Given the description of an element on the screen output the (x, y) to click on. 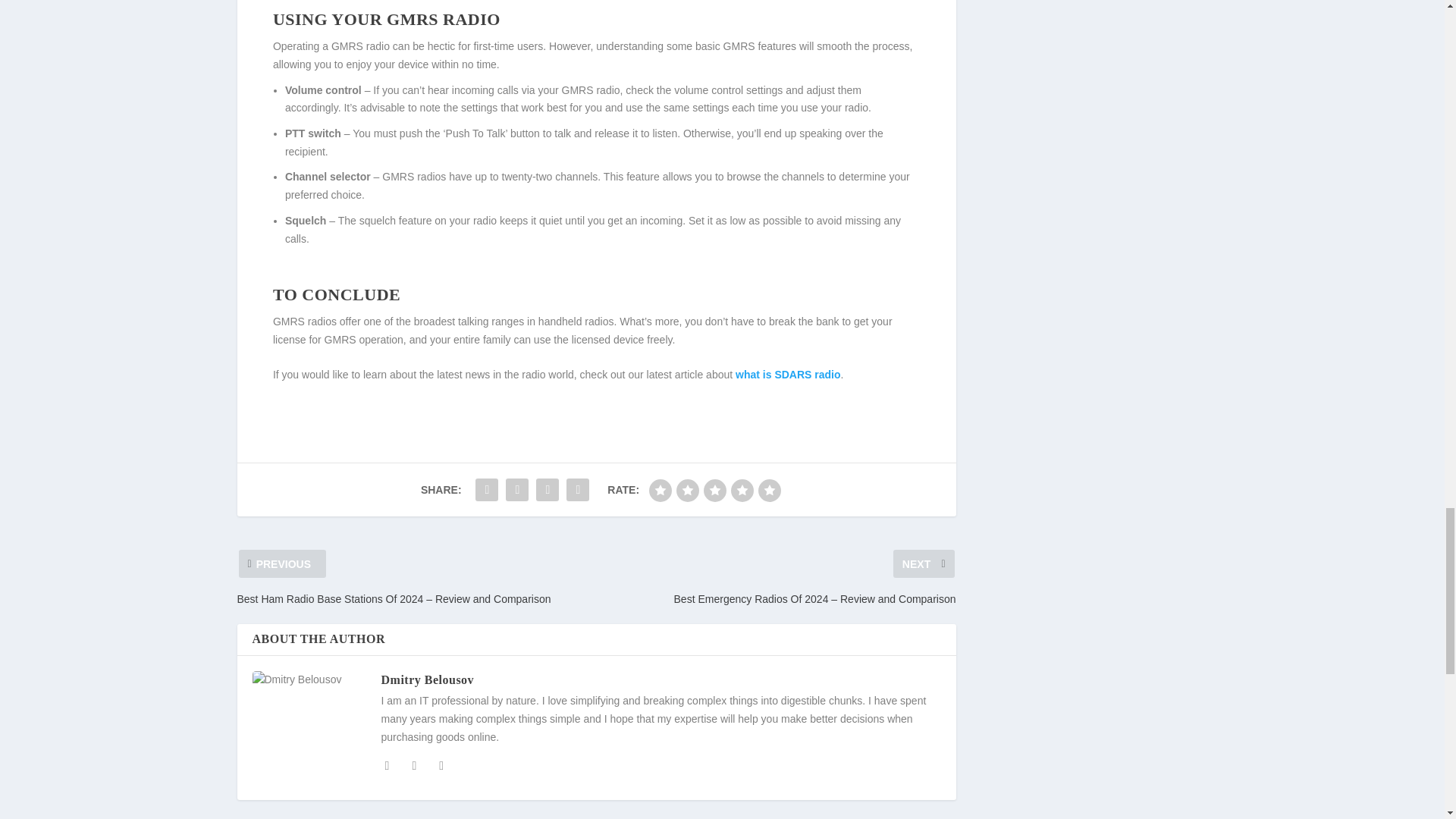
Share "What is GMRS Radio?" via LinkedIn (577, 490)
View all posts by Dmitry Belousov (427, 679)
bad (660, 490)
gorgeous (769, 490)
Share "What is GMRS Radio?" via Twitter (517, 490)
regular (714, 490)
poor (687, 490)
good (742, 490)
Share "What is GMRS Radio?" via Pinterest (547, 490)
Share "What is GMRS Radio?" via Facebook (486, 490)
